Given the description of an element on the screen output the (x, y) to click on. 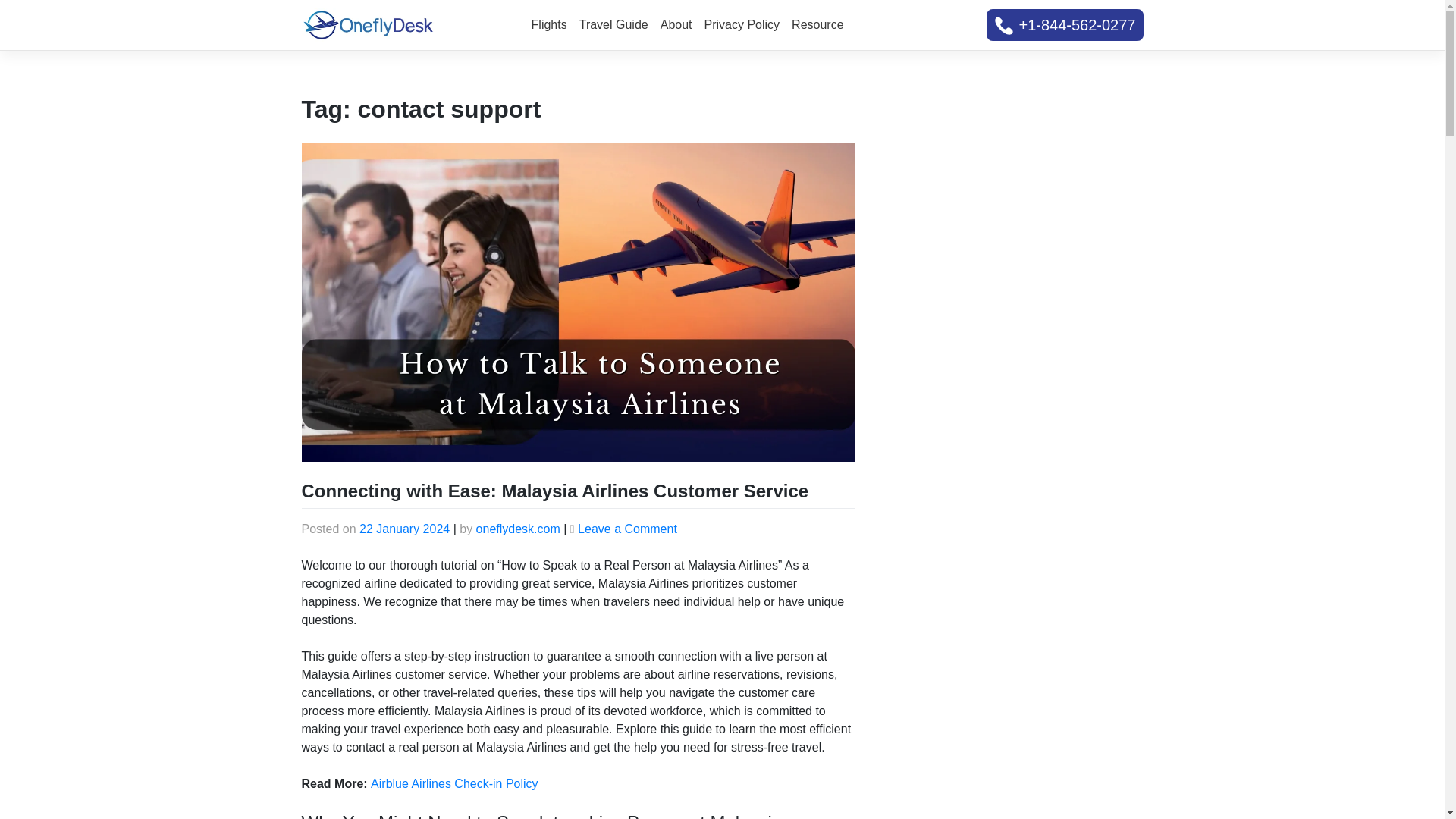
Flights (549, 24)
Travel Guide (613, 24)
Connecting with Ease: Malaysia Airlines Customer Service (555, 490)
Resource (817, 24)
Privacy Policy (742, 24)
About (675, 24)
Flights (549, 24)
About (675, 24)
Travel Guide (613, 24)
